Given the description of an element on the screen output the (x, y) to click on. 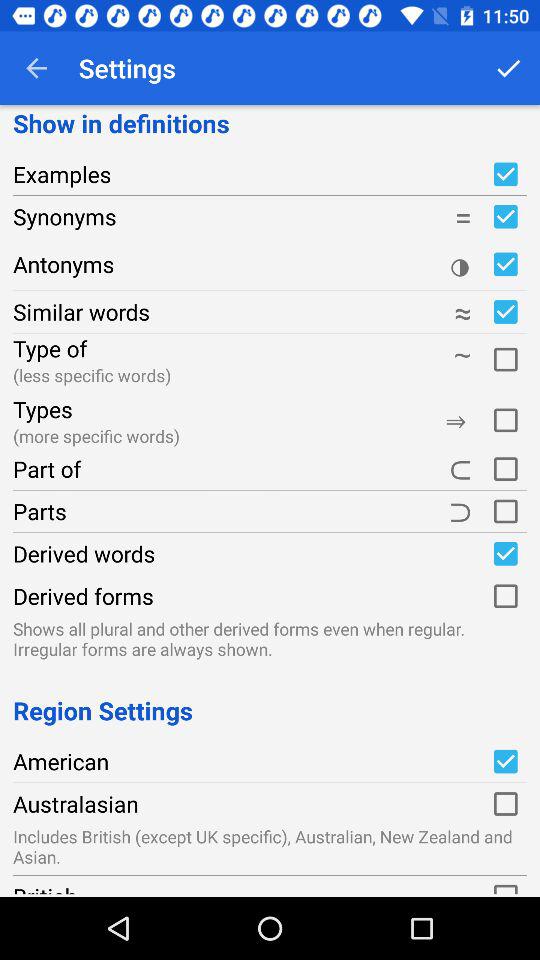
turn on/off part of (505, 469)
